Given the description of an element on the screen output the (x, y) to click on. 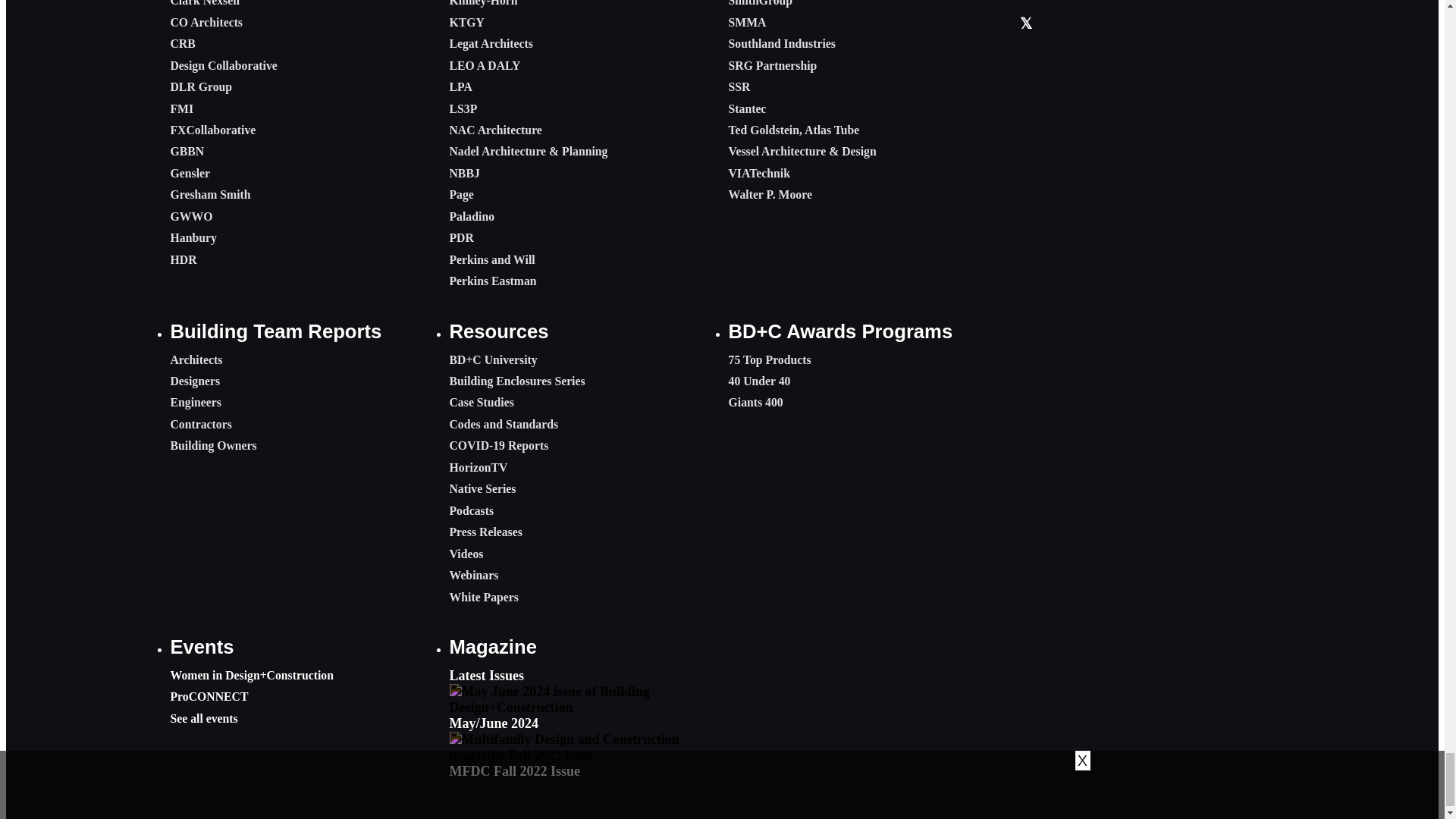
Multifamily Design and Construction magazine Fall 2022 issue (582, 747)
